Given the description of an element on the screen output the (x, y) to click on. 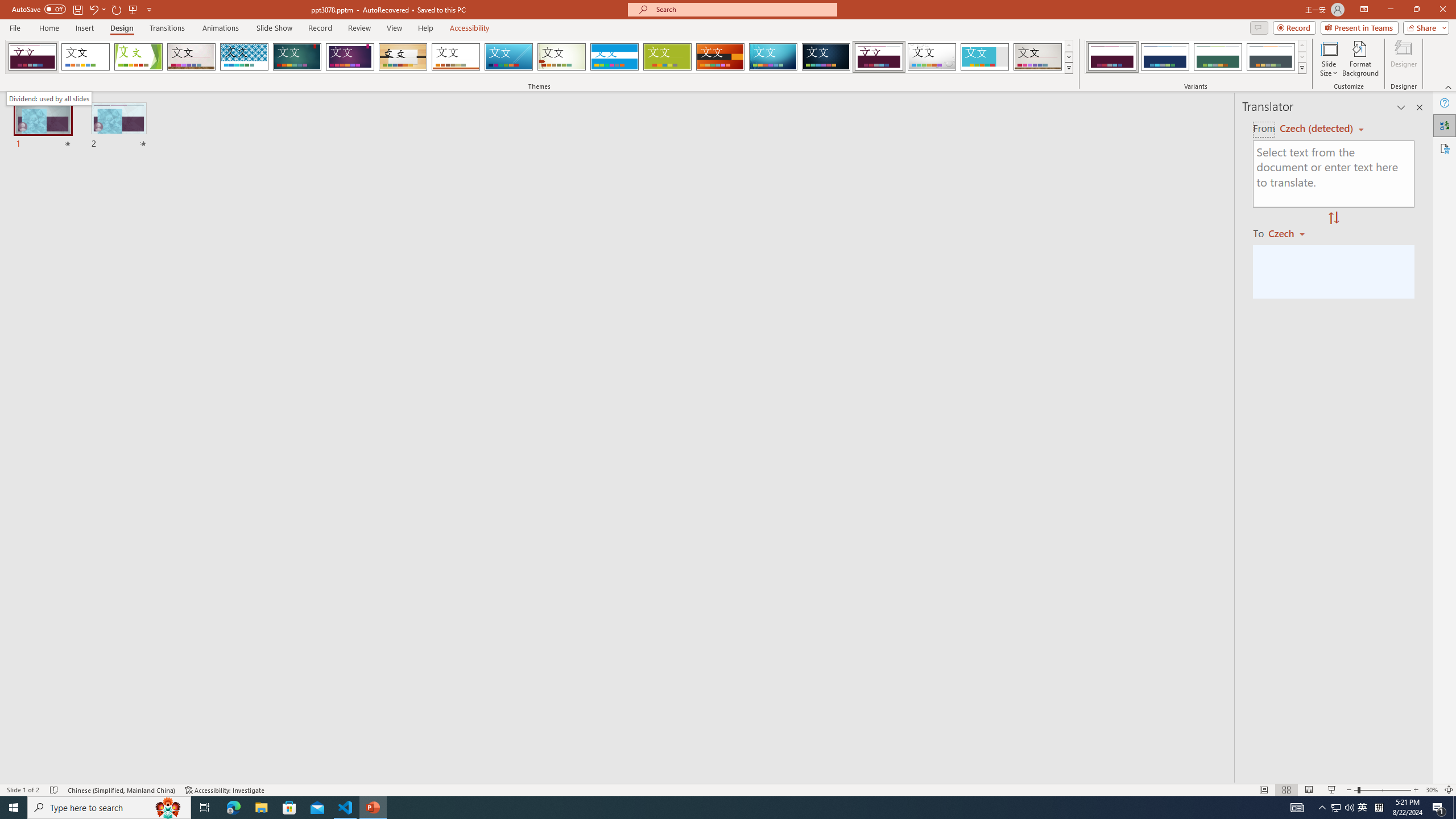
Dividend Variant 3 (1217, 56)
Variants (1301, 67)
Swap "from" and "to" languages. (1333, 218)
